Given the description of an element on the screen output the (x, y) to click on. 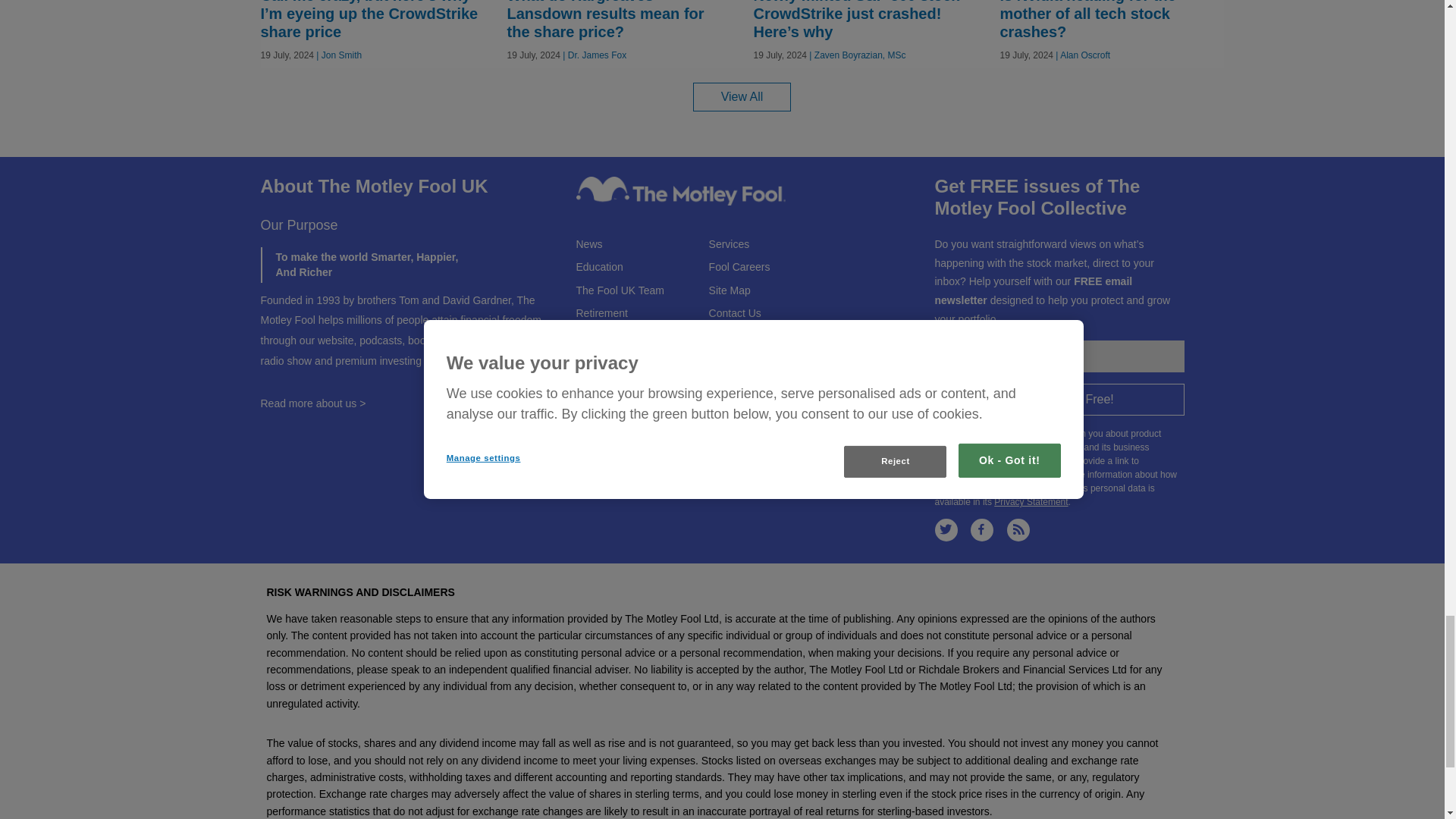
true (938, 431)
